Given the description of an element on the screen output the (x, y) to click on. 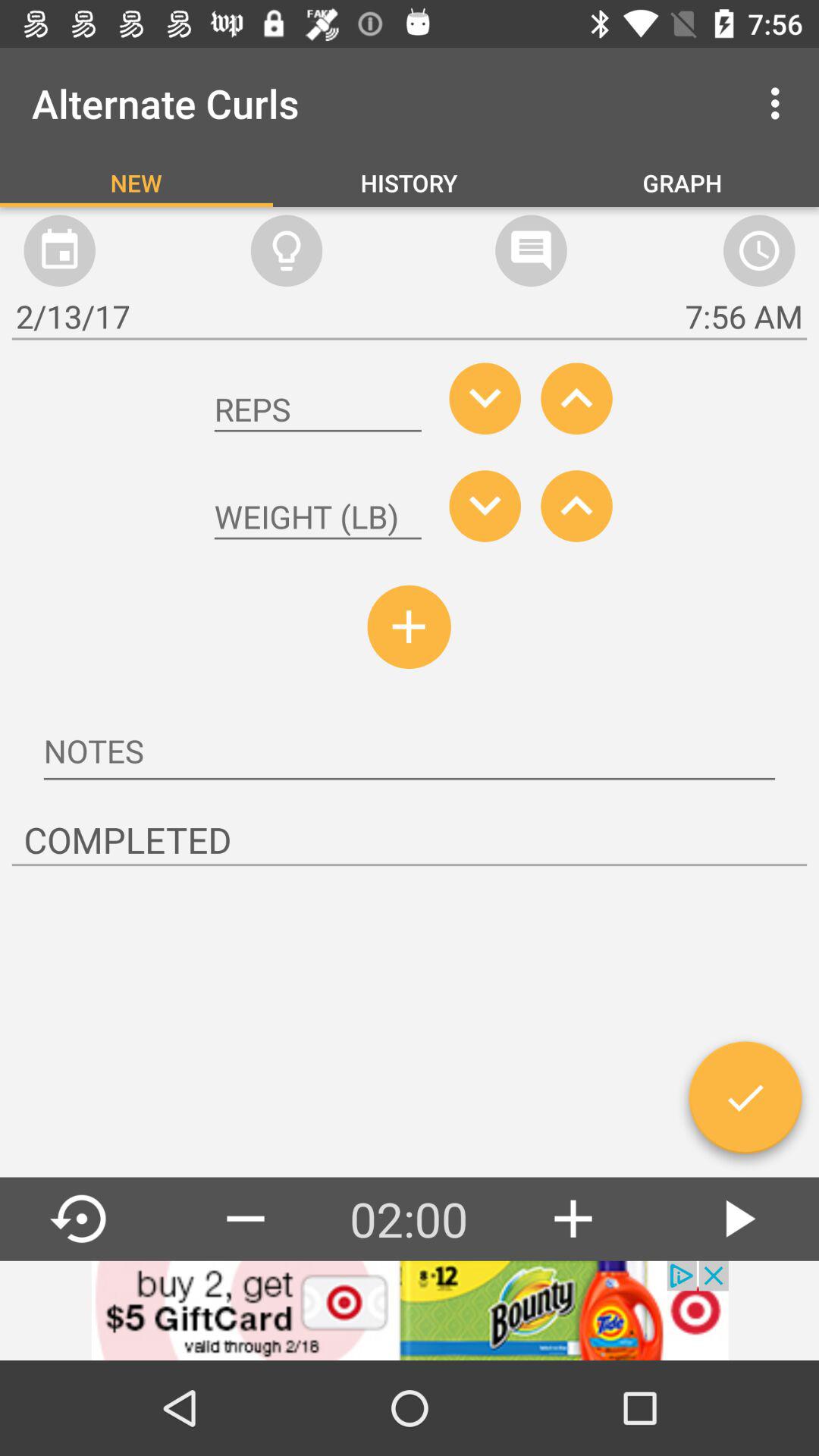
enter number of reps (317, 409)
